Given the description of an element on the screen output the (x, y) to click on. 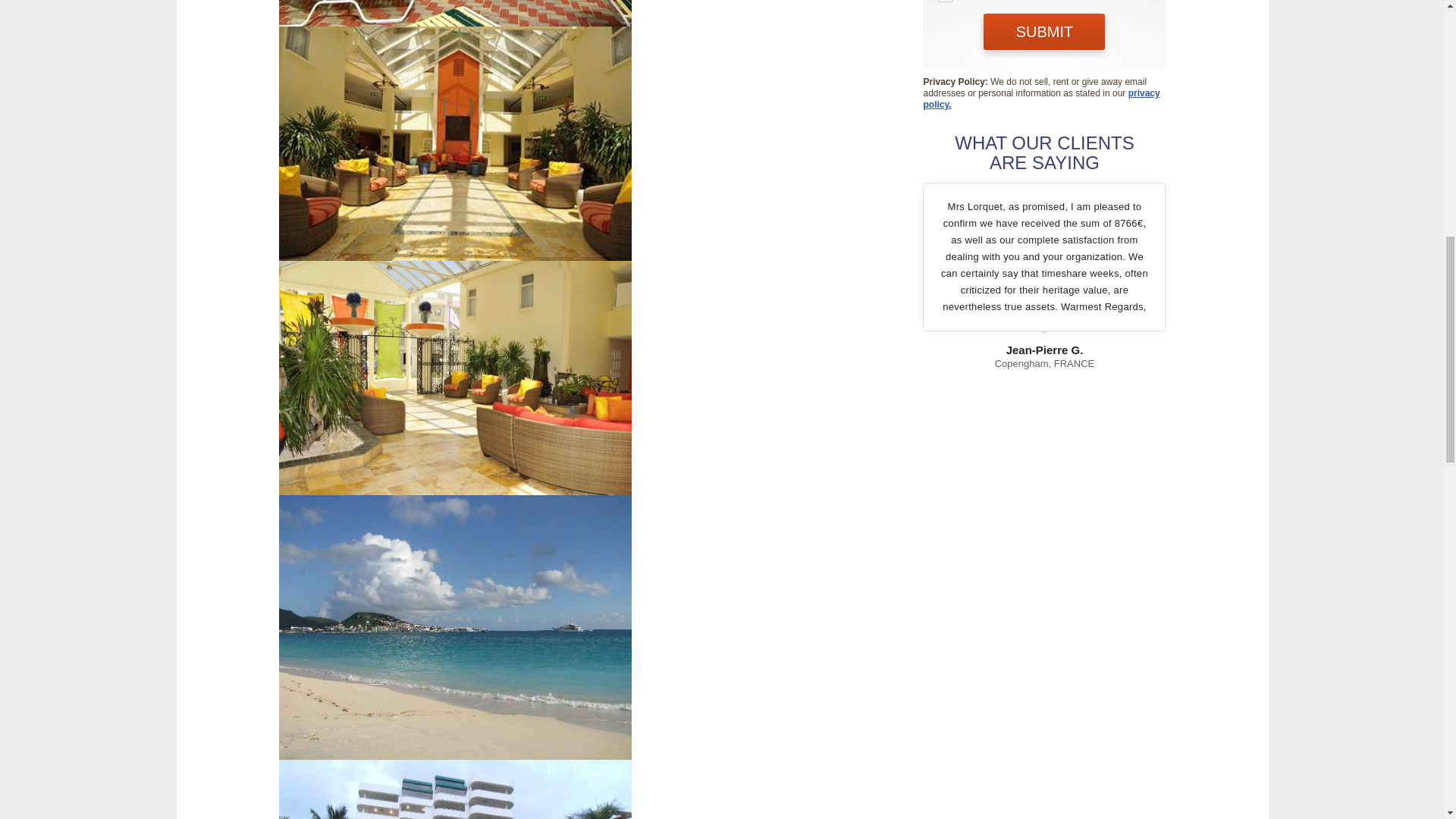
purchasing (945, 1)
SUBMIT (1044, 31)
privacy policy. (1040, 98)
